Given the description of an element on the screen output the (x, y) to click on. 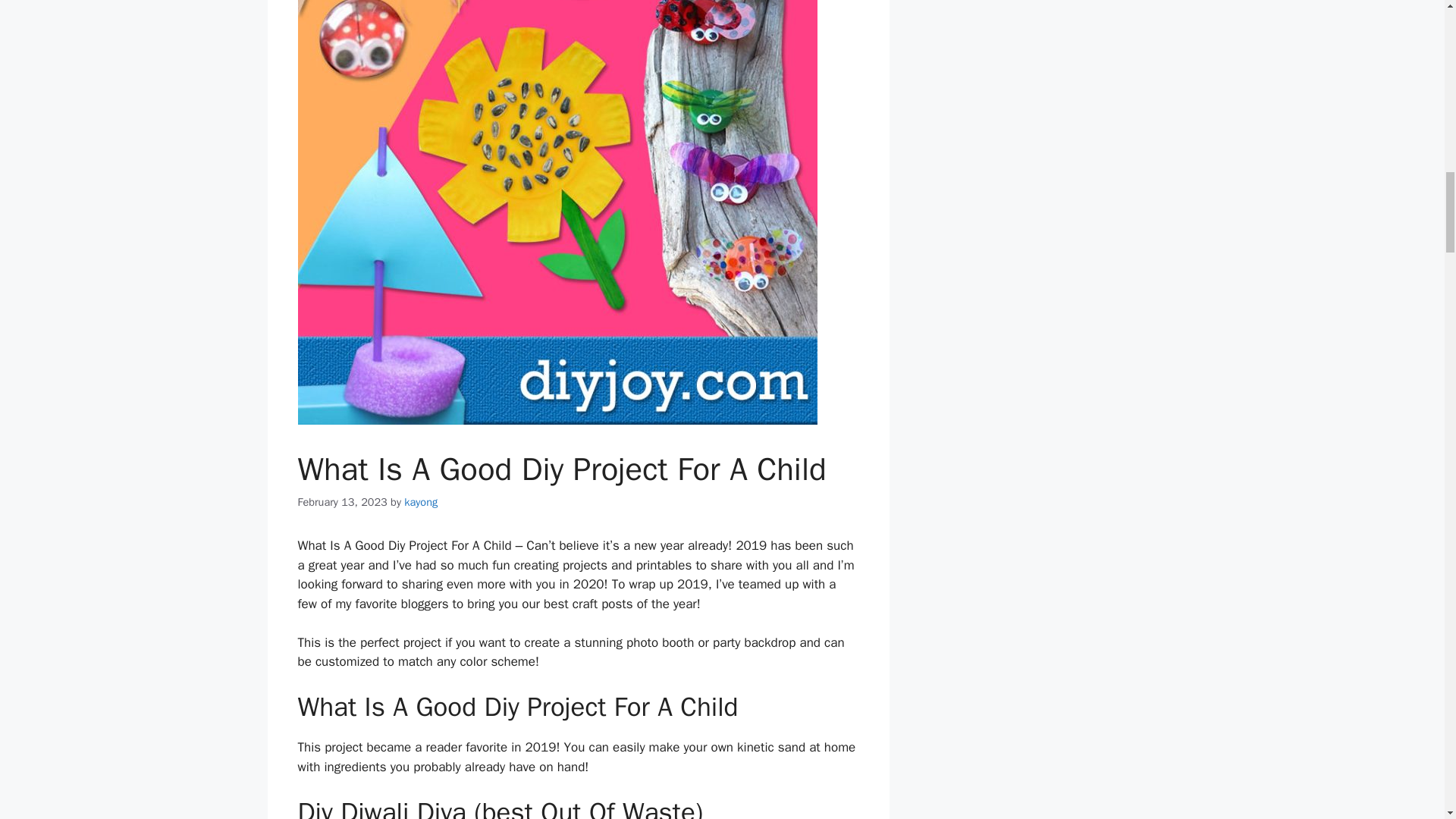
kayong (421, 501)
View all posts by kayong (421, 501)
